Given the description of an element on the screen output the (x, y) to click on. 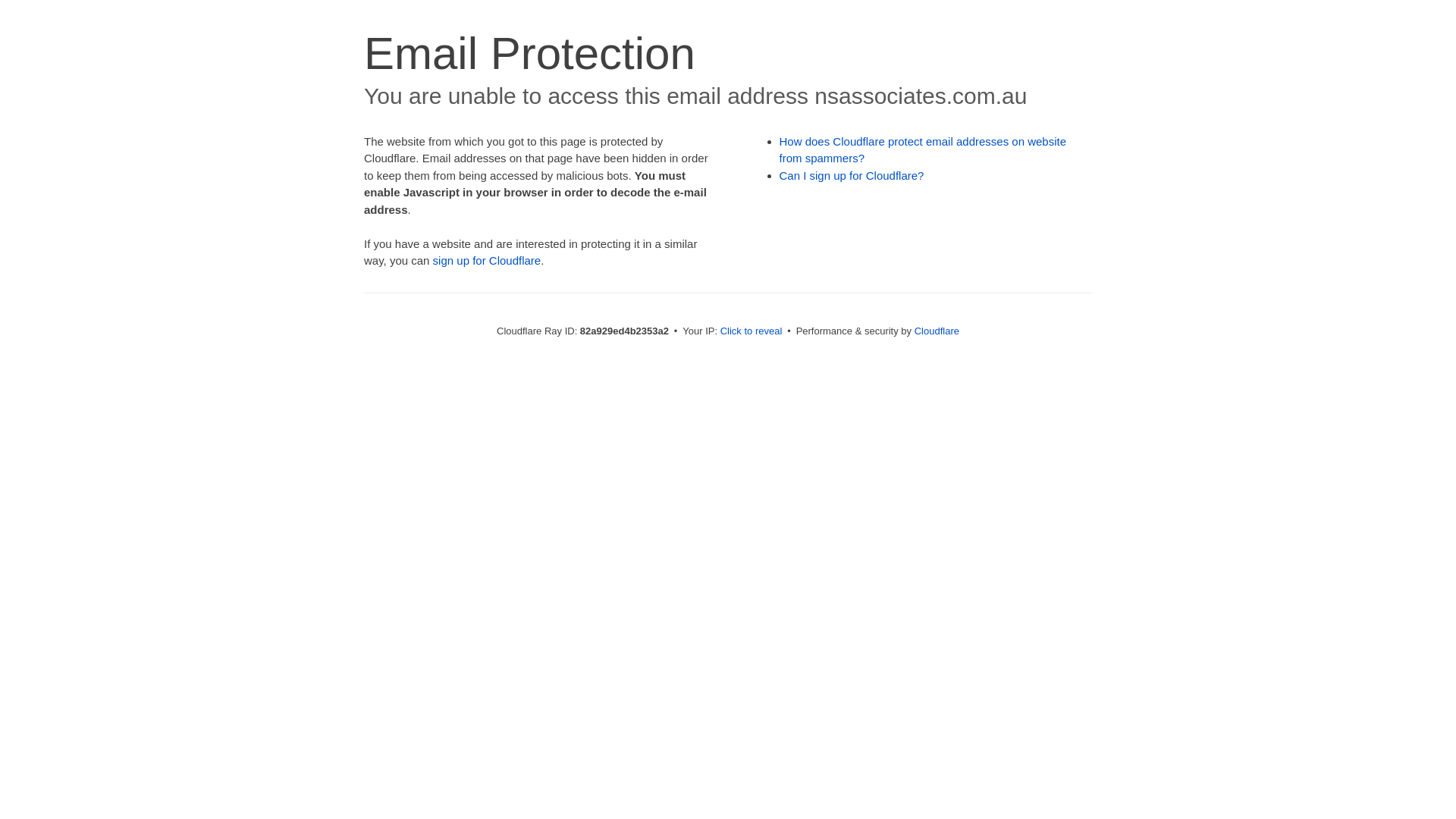
sign up for Cloudflare Element type: text (487, 260)
Cloudflare Element type: text (936, 330)
Click to reveal Element type: text (751, 330)
Can I sign up for Cloudflare? Element type: text (851, 175)
